Given the description of an element on the screen output the (x, y) to click on. 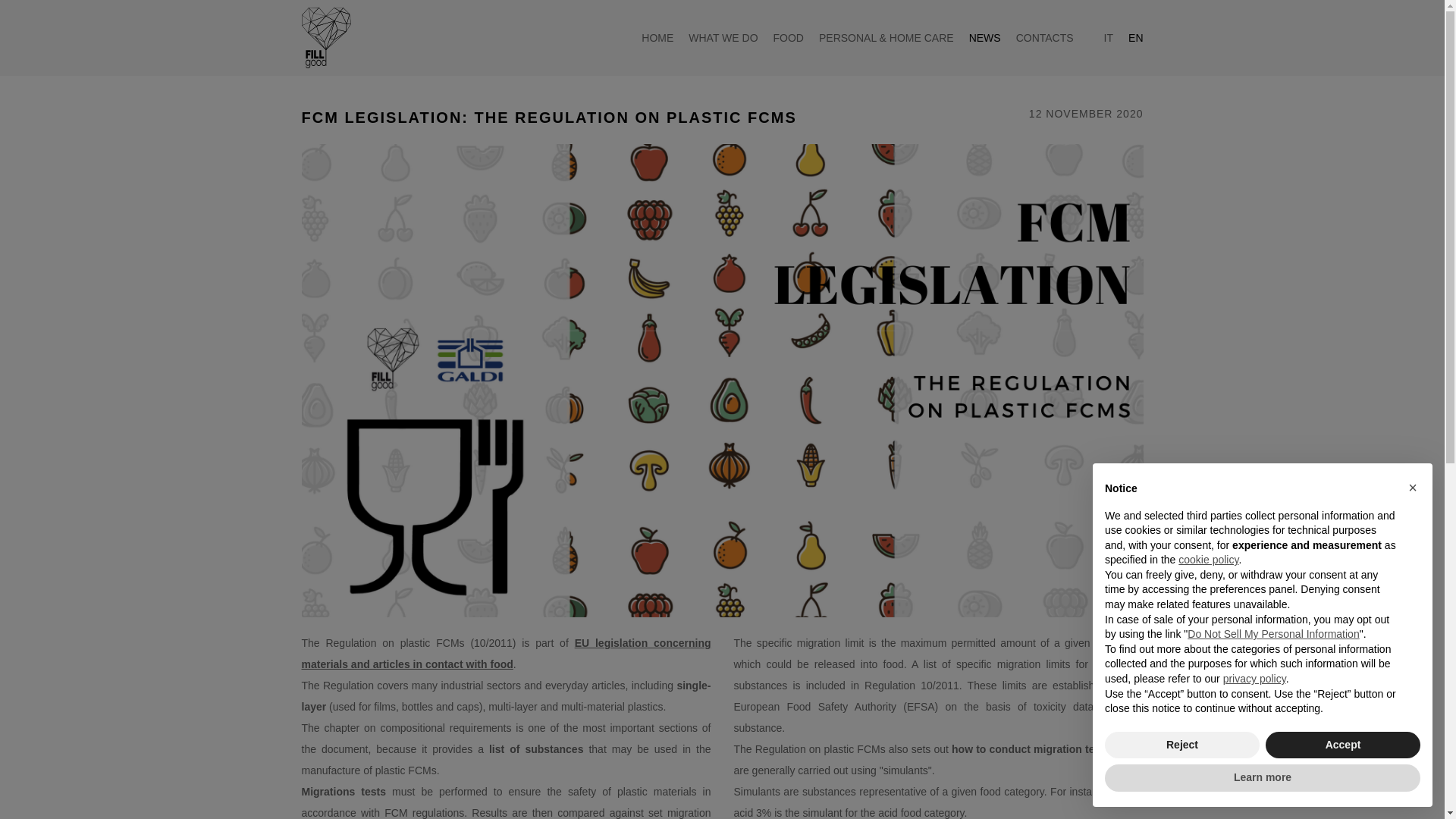
Do Not Sell My Personal Information (1273, 634)
CONTACTS (1045, 37)
EN (1135, 37)
FOOD (788, 37)
privacy policy (1254, 678)
Reject (1182, 745)
cookie policy (1208, 559)
HOME (657, 37)
WHAT WE DO (722, 37)
